Given the description of an element on the screen output the (x, y) to click on. 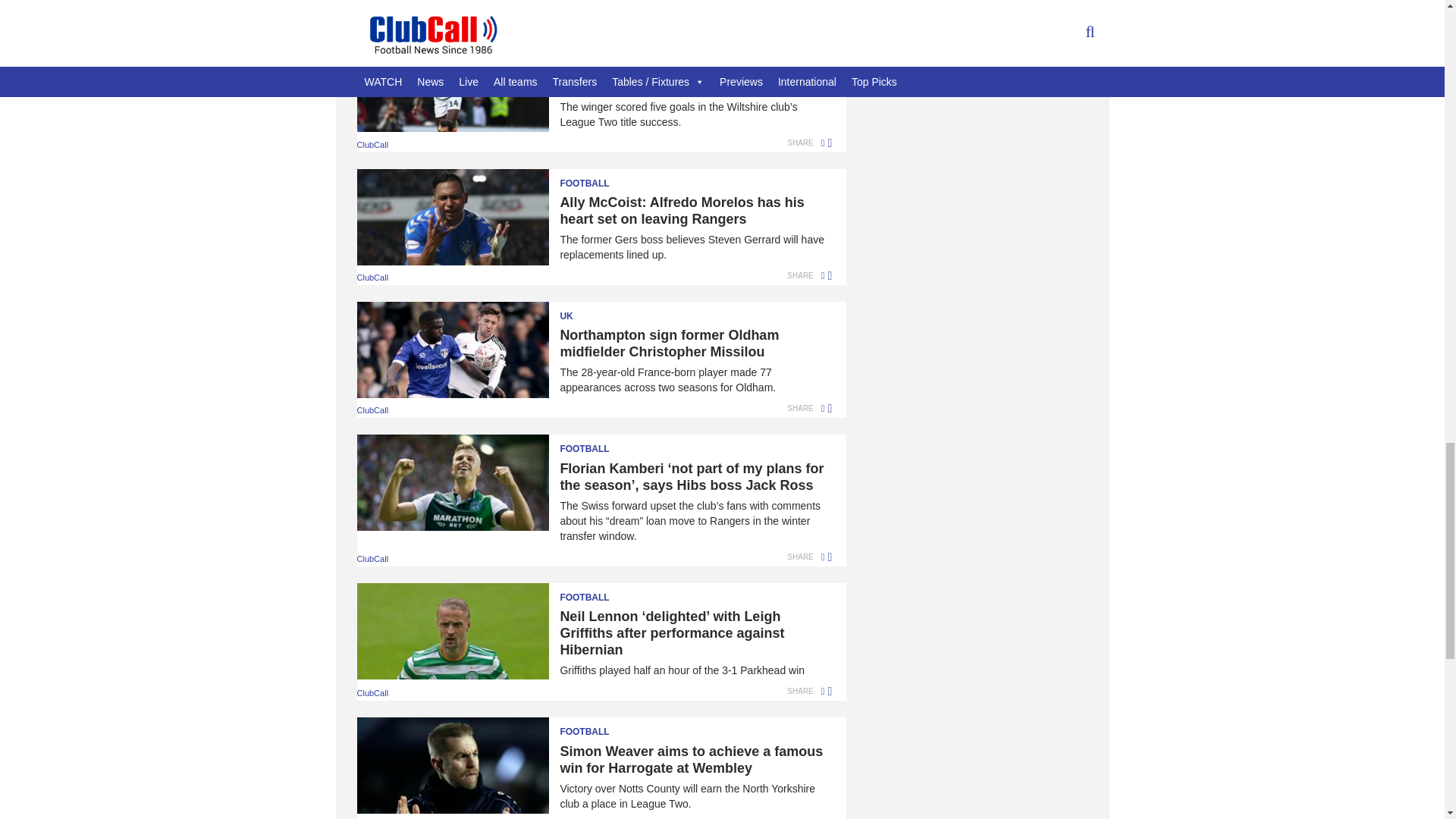
Football (593, 592)
Football (593, 444)
UK (593, 45)
Football (593, 178)
Football (593, 727)
ClubCall (575, 10)
UK (593, 311)
